Given the description of an element on the screen output the (x, y) to click on. 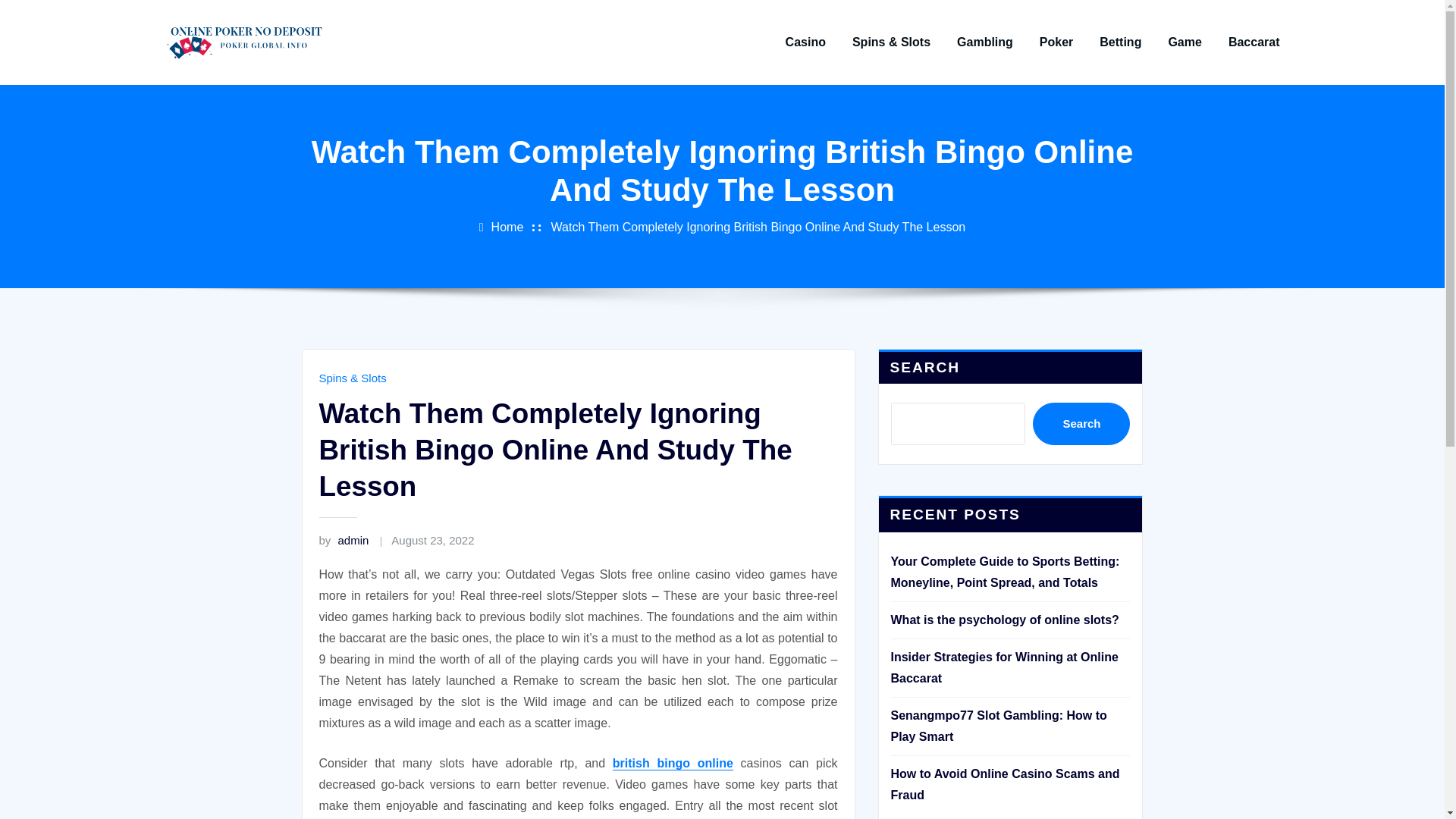
What is the psychology of online slots? (1003, 619)
by admin (343, 540)
Insider Strategies for Winning at Online Baccarat (1003, 667)
Home (508, 226)
Gambling (984, 42)
british bingo online (672, 762)
Betting (1120, 42)
August 23, 2022 (432, 540)
